Given the description of an element on the screen output the (x, y) to click on. 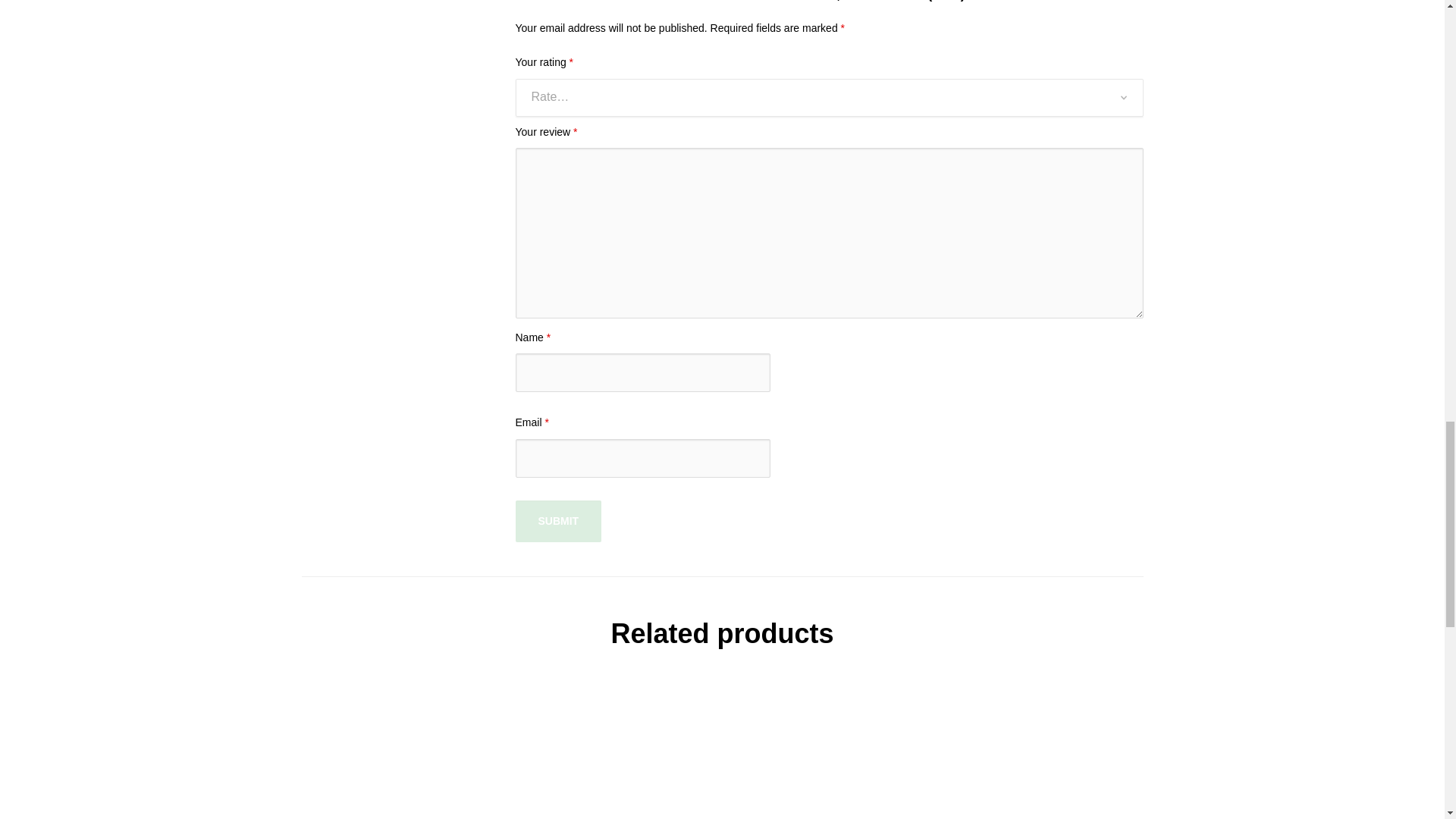
Submit (558, 521)
